Given the description of an element on the screen output the (x, y) to click on. 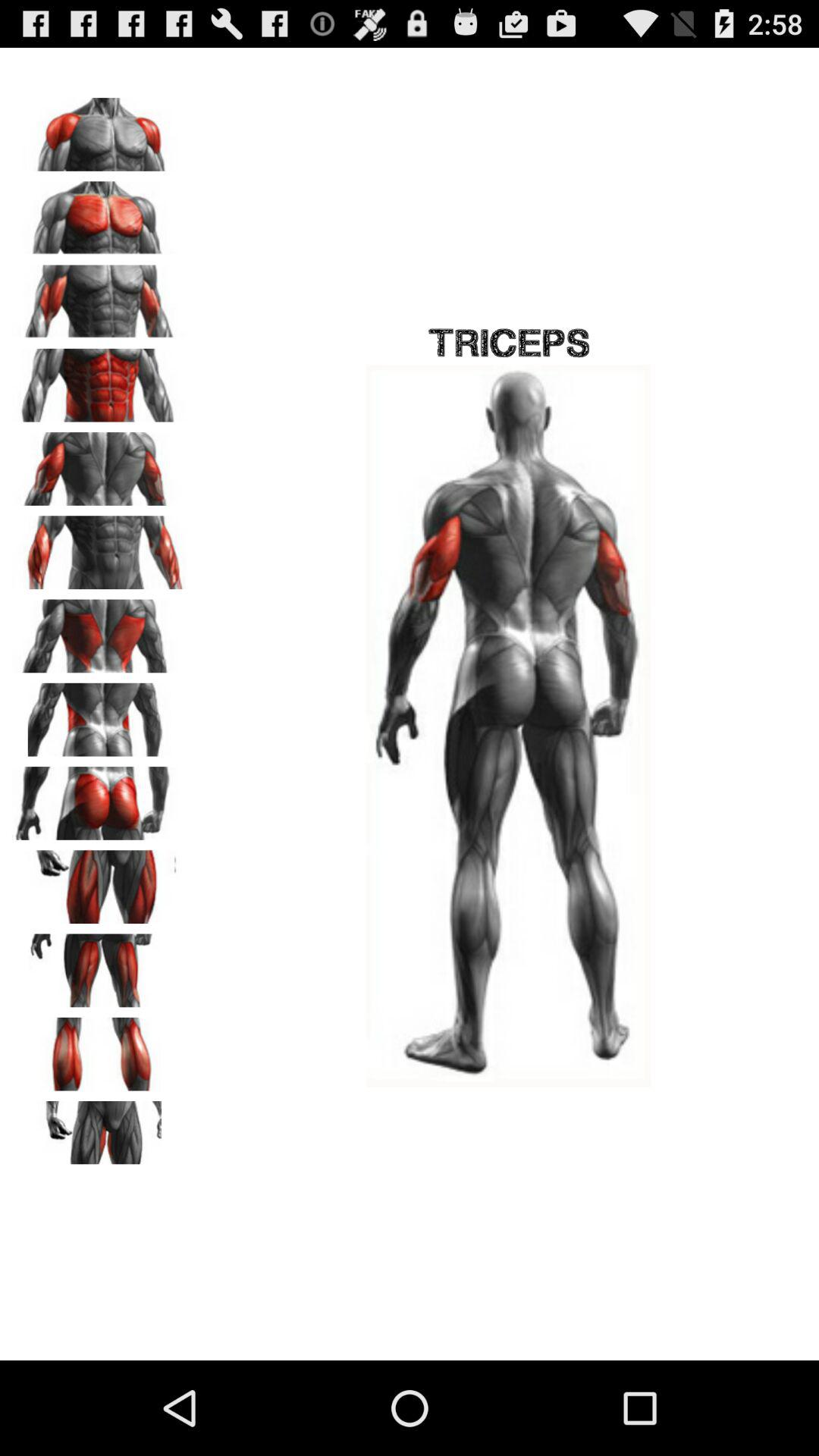
select image (99, 547)
